Given the description of an element on the screen output the (x, y) to click on. 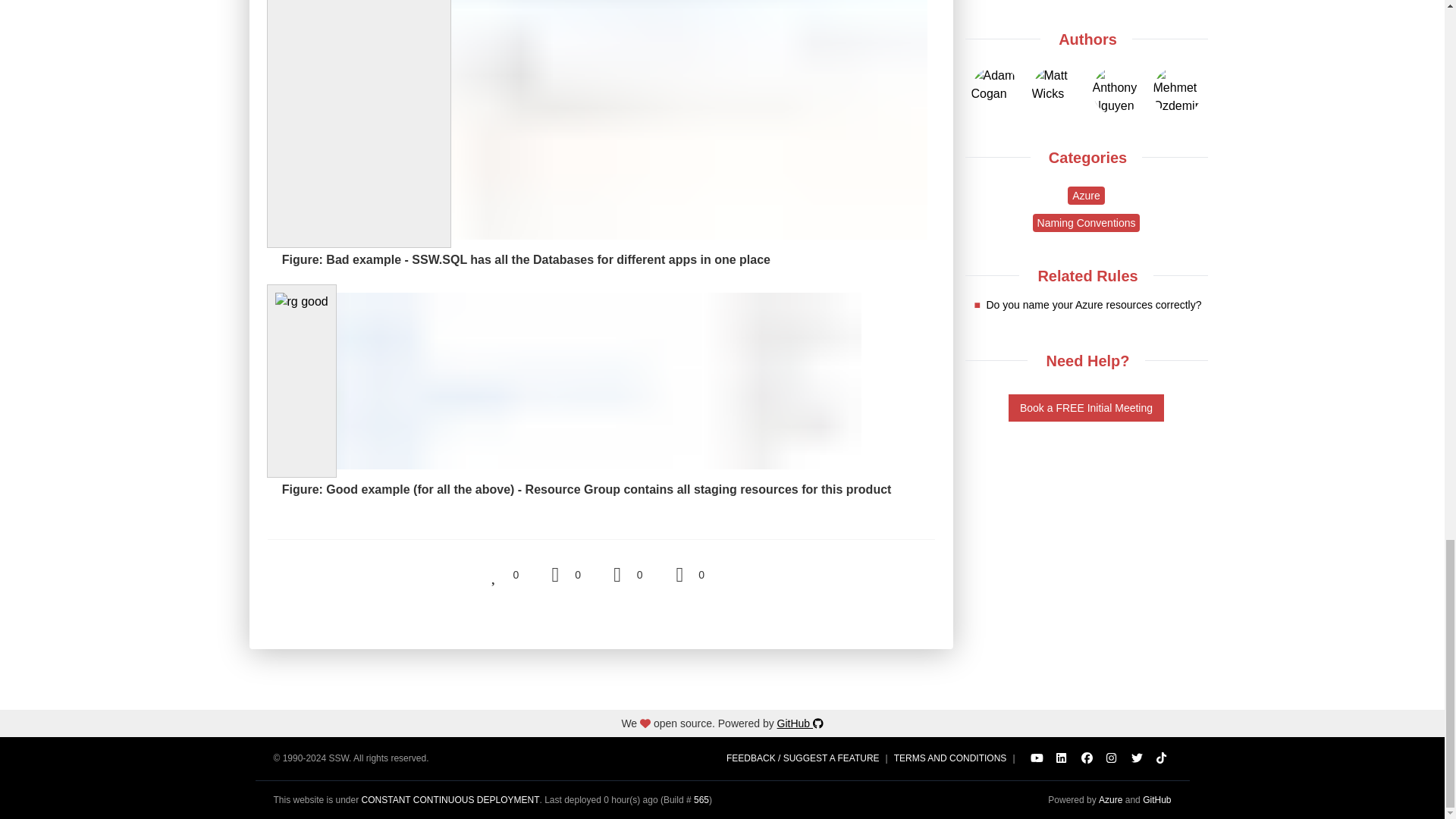
SSW on Twitter (1135, 758)
SSW on Instagram (1111, 758)
SSW on TikTok (1162, 758)
SSW on Facebook (1086, 758)
SSW on YouTube (1035, 758)
SSW on LinkedIn (1061, 758)
